Given the description of an element on the screen output the (x, y) to click on. 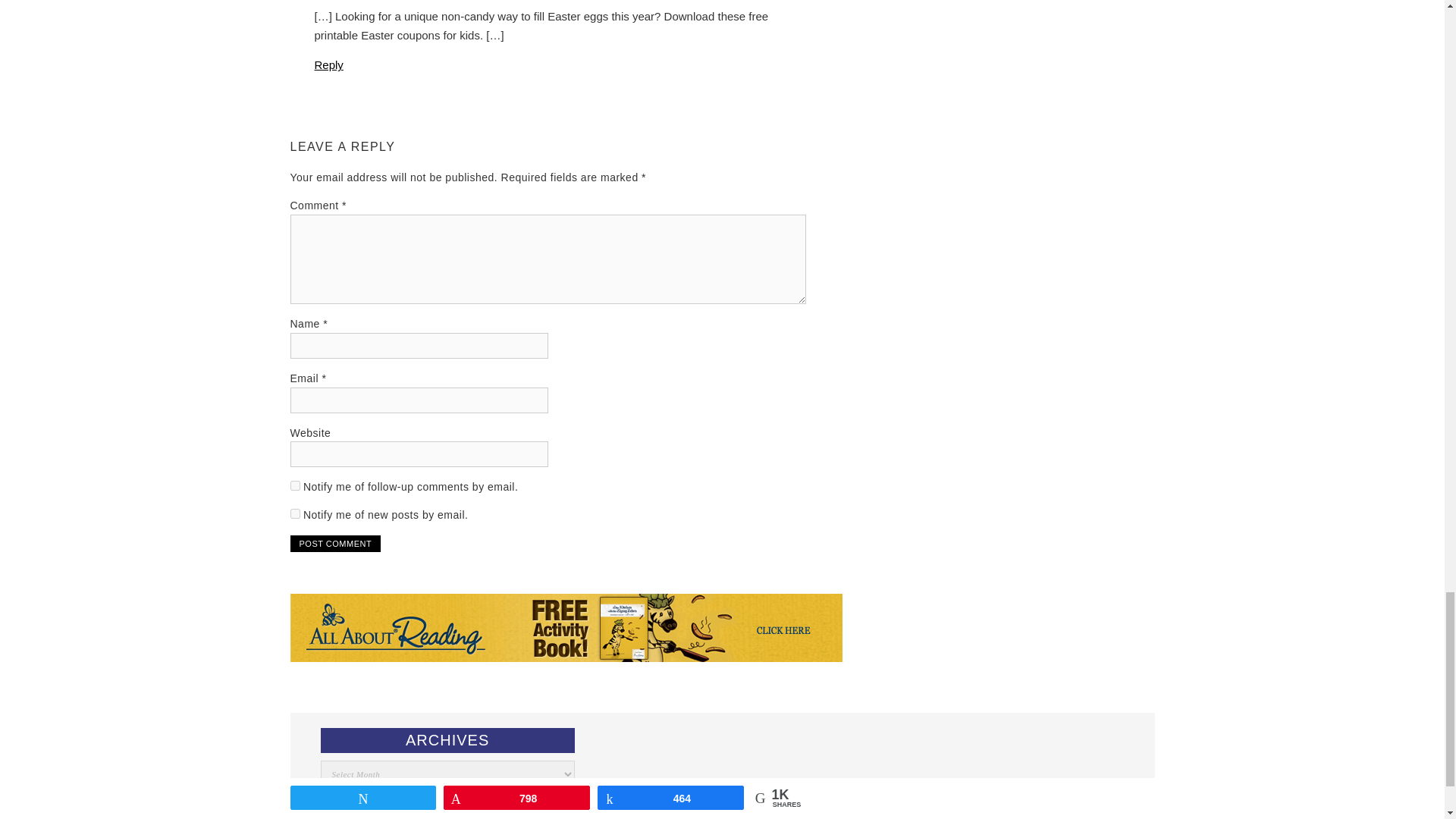
Post Comment (334, 543)
Post Comment (334, 543)
subscribe (294, 485)
Reply (328, 64)
subscribe (294, 513)
